Given the description of an element on the screen output the (x, y) to click on. 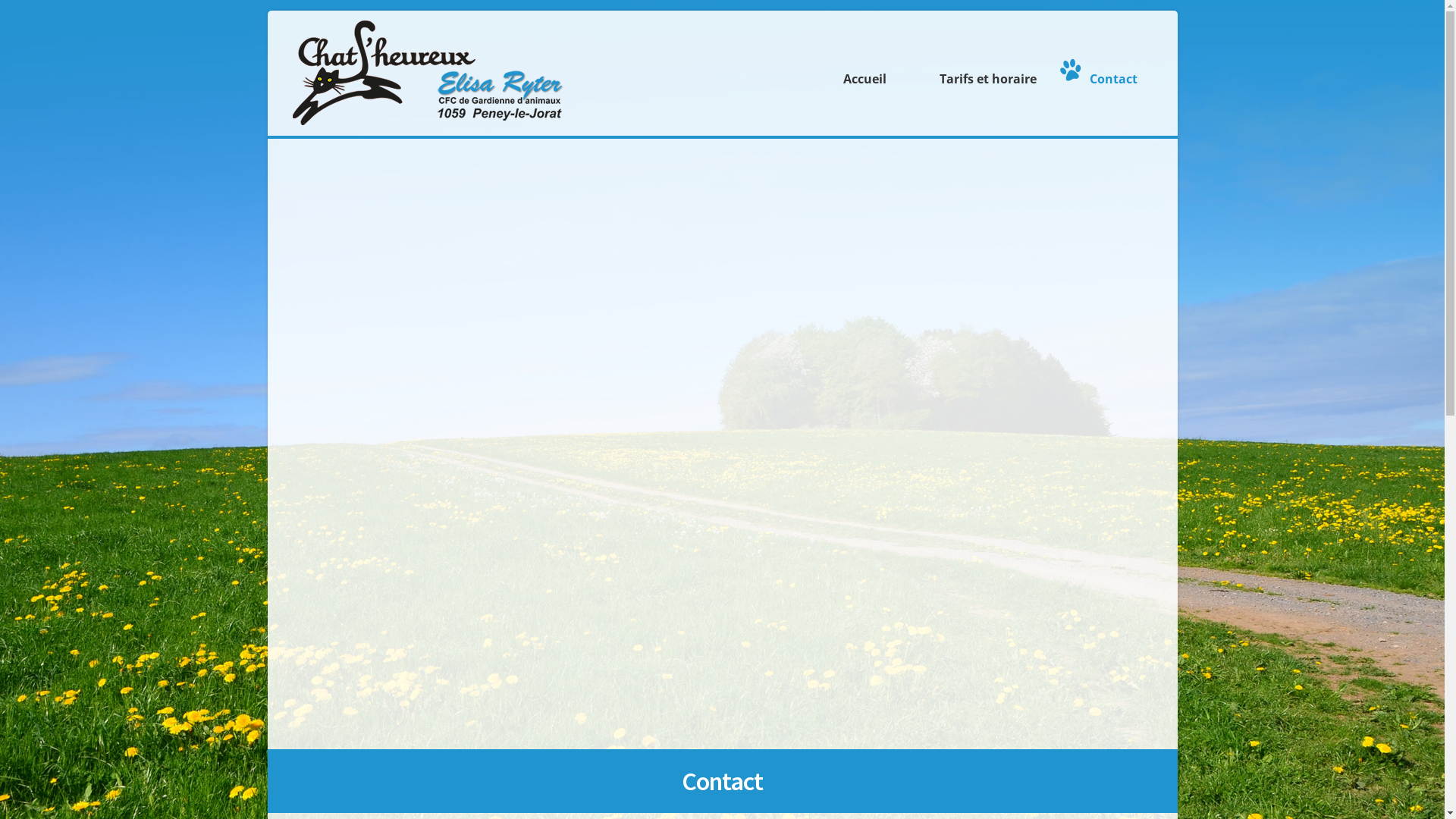
Accueil Element type: text (860, 69)
Contact Element type: text (1108, 69)
Tarifs et horaire Element type: text (983, 69)
